Given the description of an element on the screen output the (x, y) to click on. 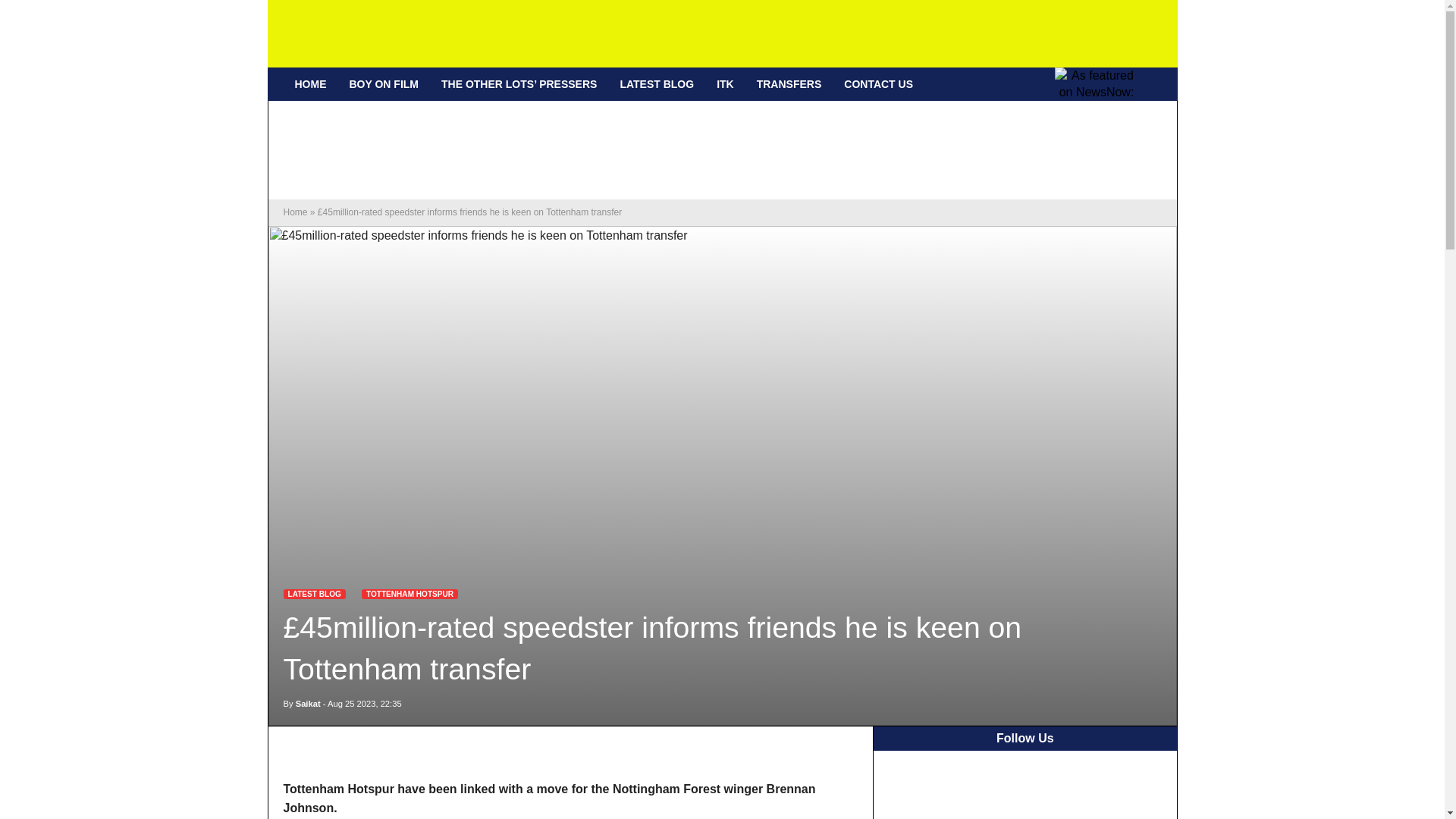
Latest Latest Blog News (314, 593)
HOME (310, 83)
BOY ON FILM (383, 83)
Click here for more Tottenham Hotspur News from NewsNow (1096, 83)
LATEST BLOG (314, 593)
TOTTENHAM HOTSPUR (409, 593)
ITK (724, 83)
LATEST BLOG (656, 83)
Home (295, 212)
Search (1160, 84)
